Given the description of an element on the screen output the (x, y) to click on. 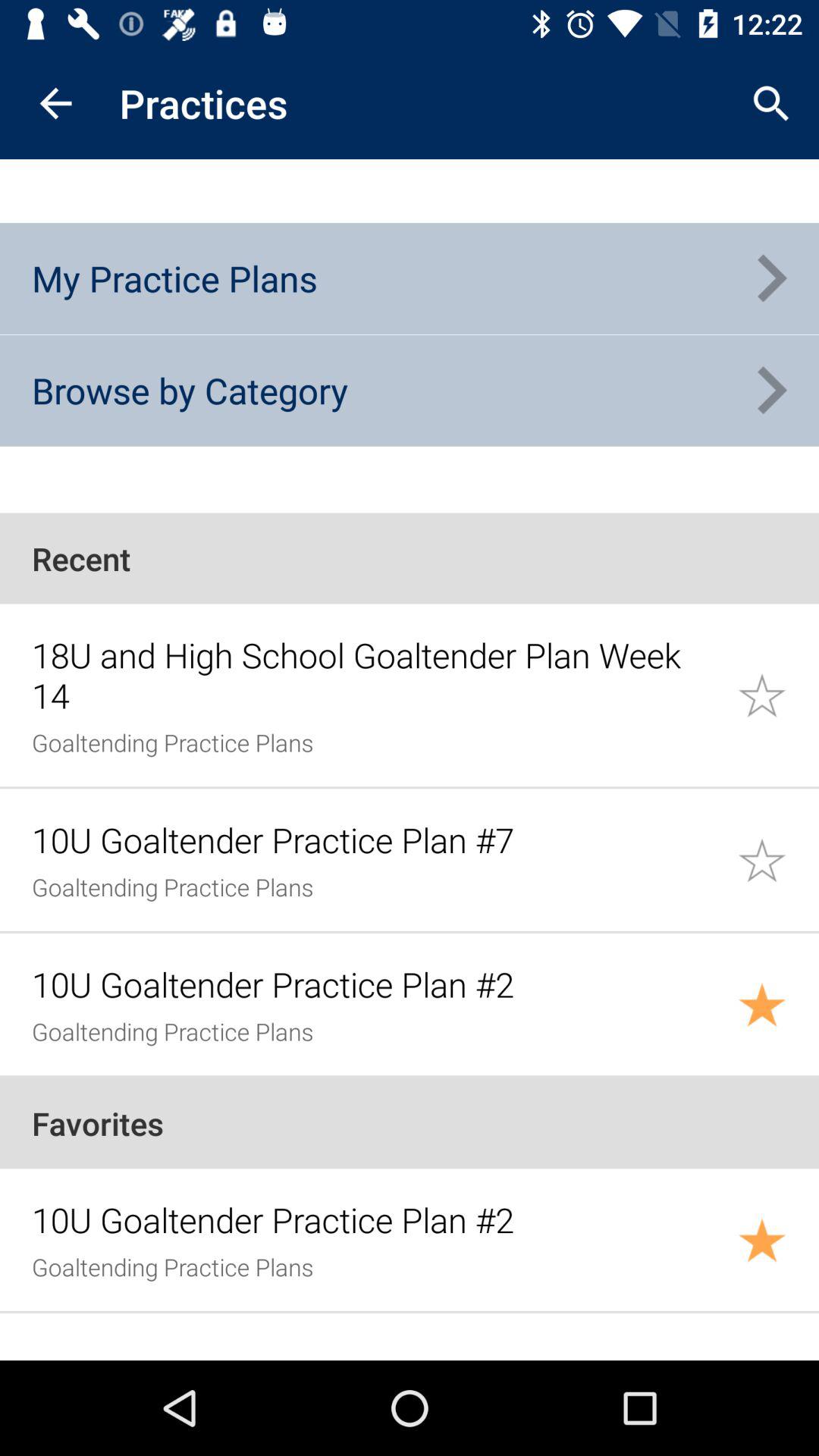
jump to the favorites (409, 1122)
